Given the description of an element on the screen output the (x, y) to click on. 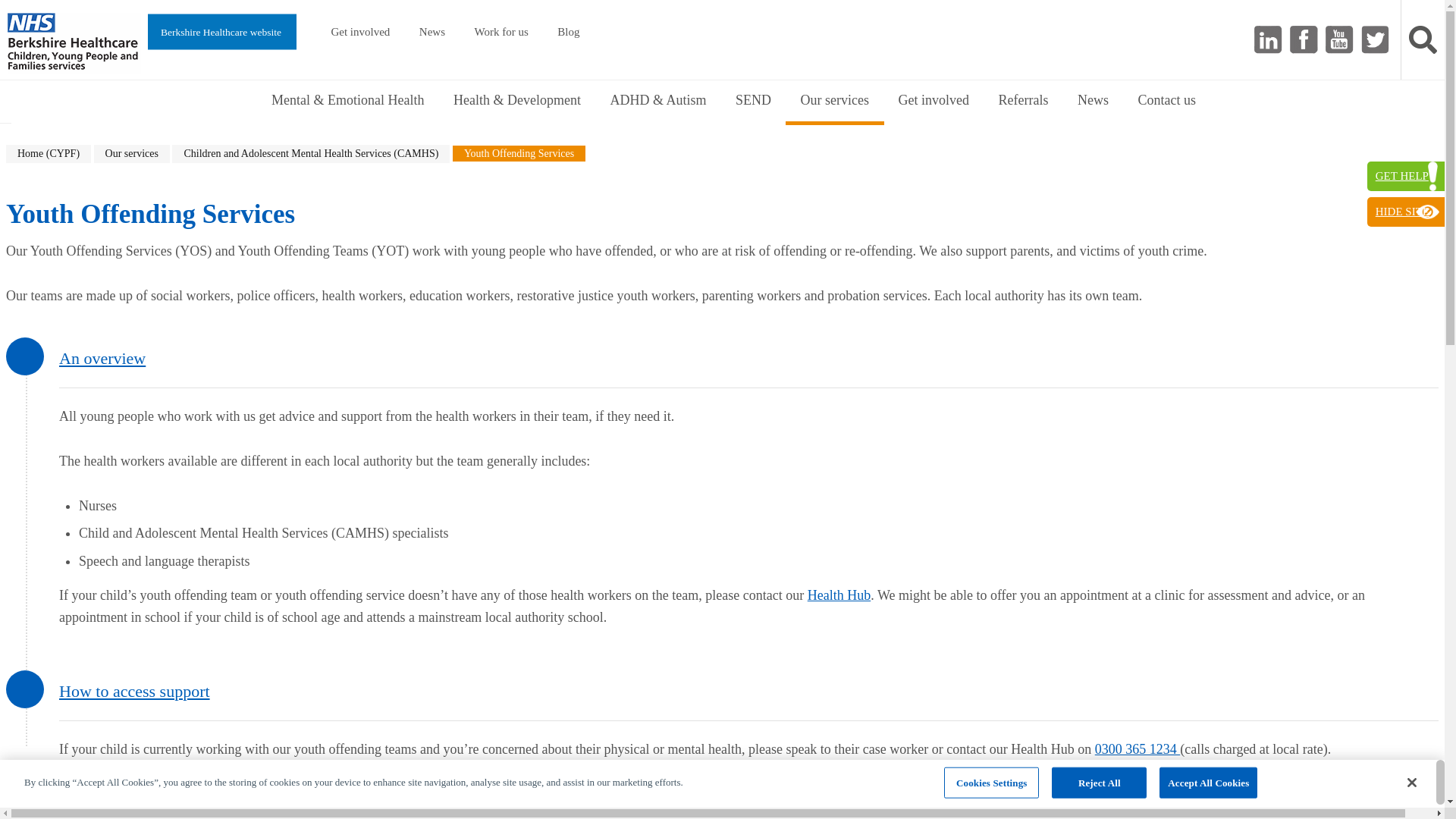
Hide site (1405, 211)
Get involved (359, 33)
YouTube (1339, 39)
News (432, 33)
Referrals (839, 595)
Children Young People and Families Online Resource (74, 43)
Facebook (1303, 39)
LinkedIn (1267, 39)
Berkshire Healthcare website (231, 33)
Work for us (501, 33)
GET HELP (1405, 175)
Blog (567, 33)
HIDE SITE (1405, 211)
Twitter (1375, 39)
Search (1423, 39)
